Given the description of an element on the screen output the (x, y) to click on. 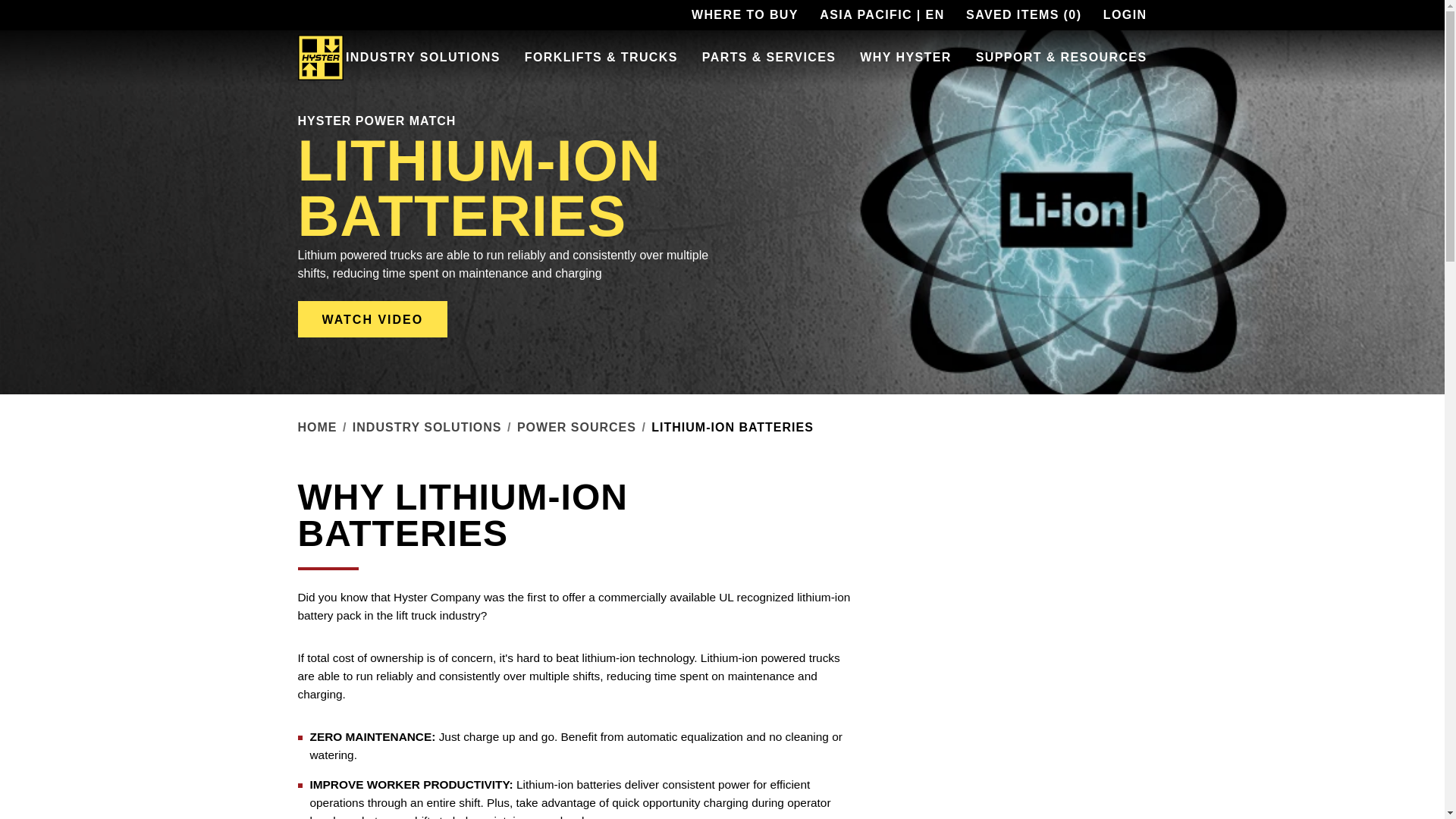
Where to Buy (744, 15)
WHERE TO BUY (744, 15)
INDUSTRY SOLUTIONS (423, 57)
